Given the description of an element on the screen output the (x, y) to click on. 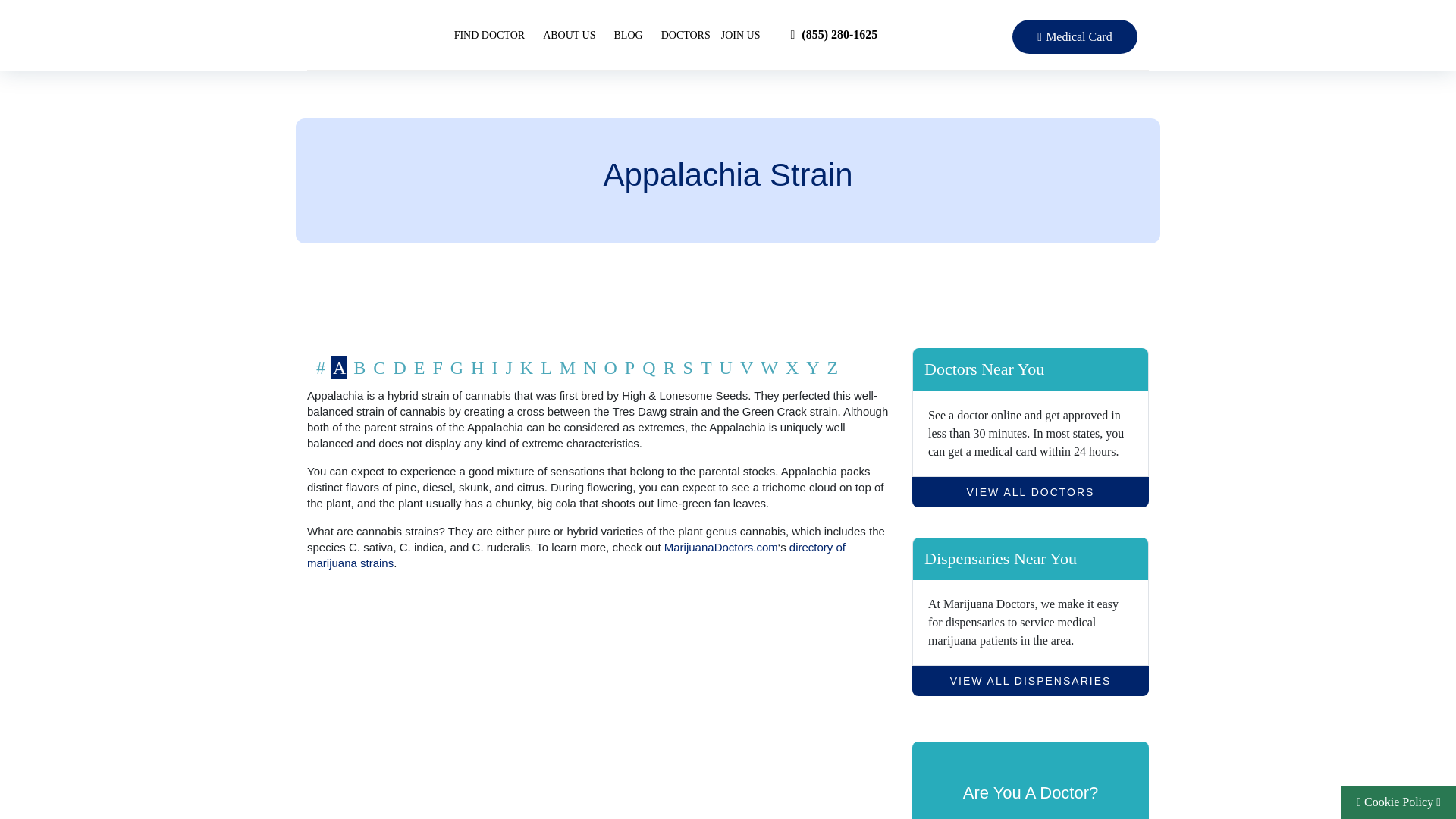
ABOUT US (569, 34)
W (768, 367)
Medical Card (1074, 36)
FIND DOCTOR (489, 34)
BLOG (628, 34)
